Given the description of an element on the screen output the (x, y) to click on. 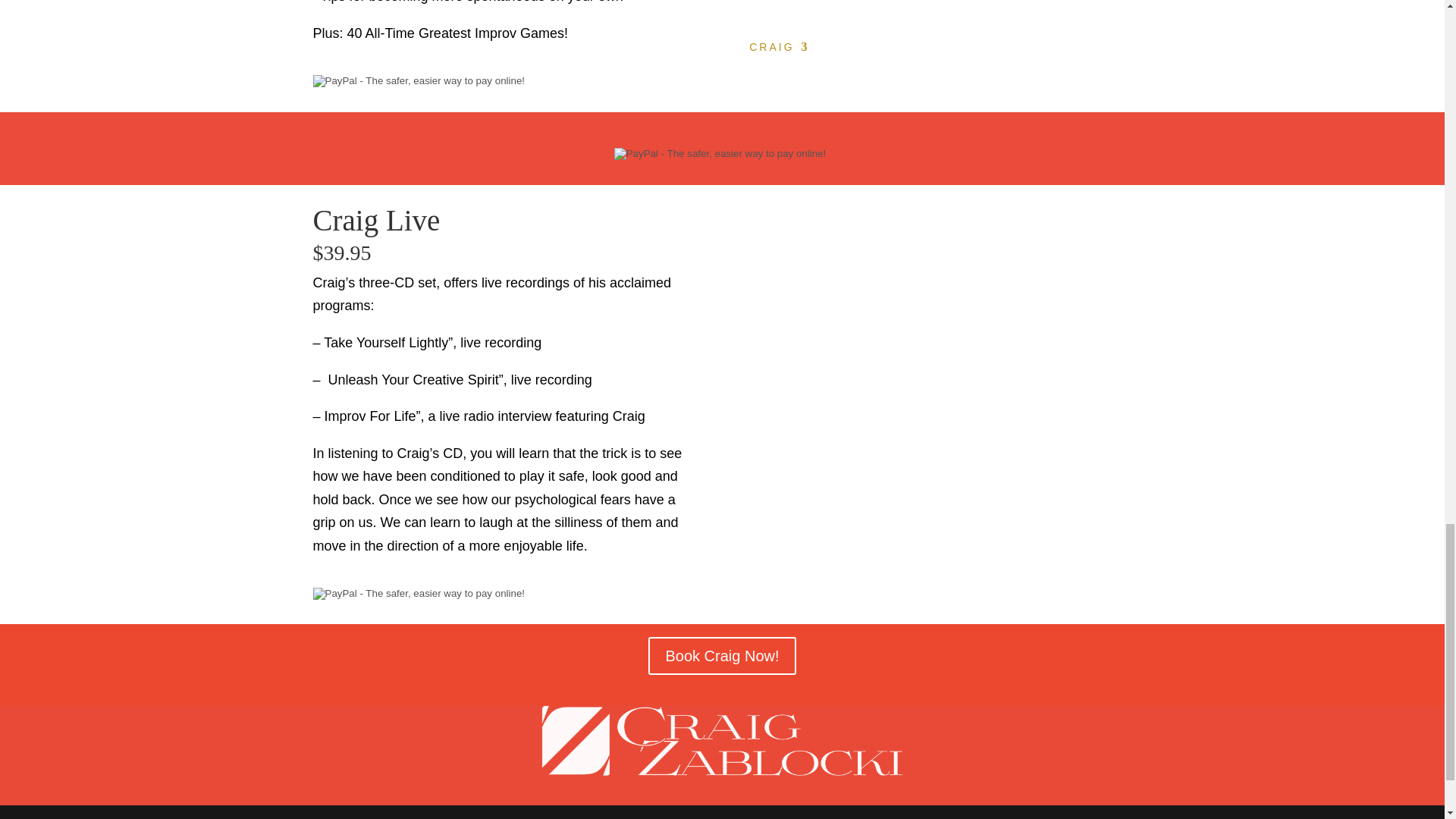
Book Craig Now! (720, 655)
